Given the description of an element on the screen output the (x, y) to click on. 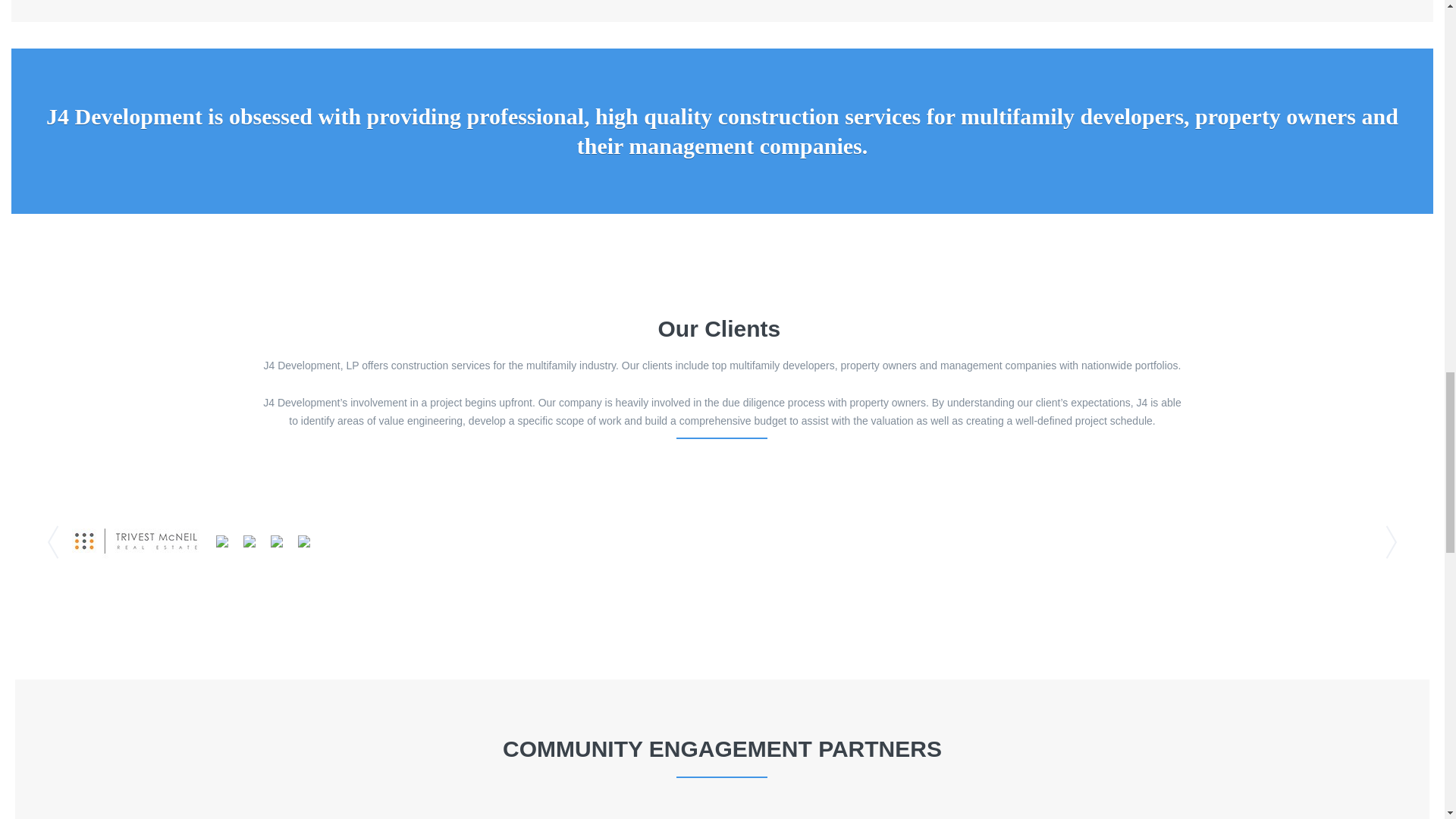
lhp (249, 541)
integra (221, 541)
trivest (135, 541)
aaa (304, 541)
reliant (276, 541)
